Given the description of an element on the screen output the (x, y) to click on. 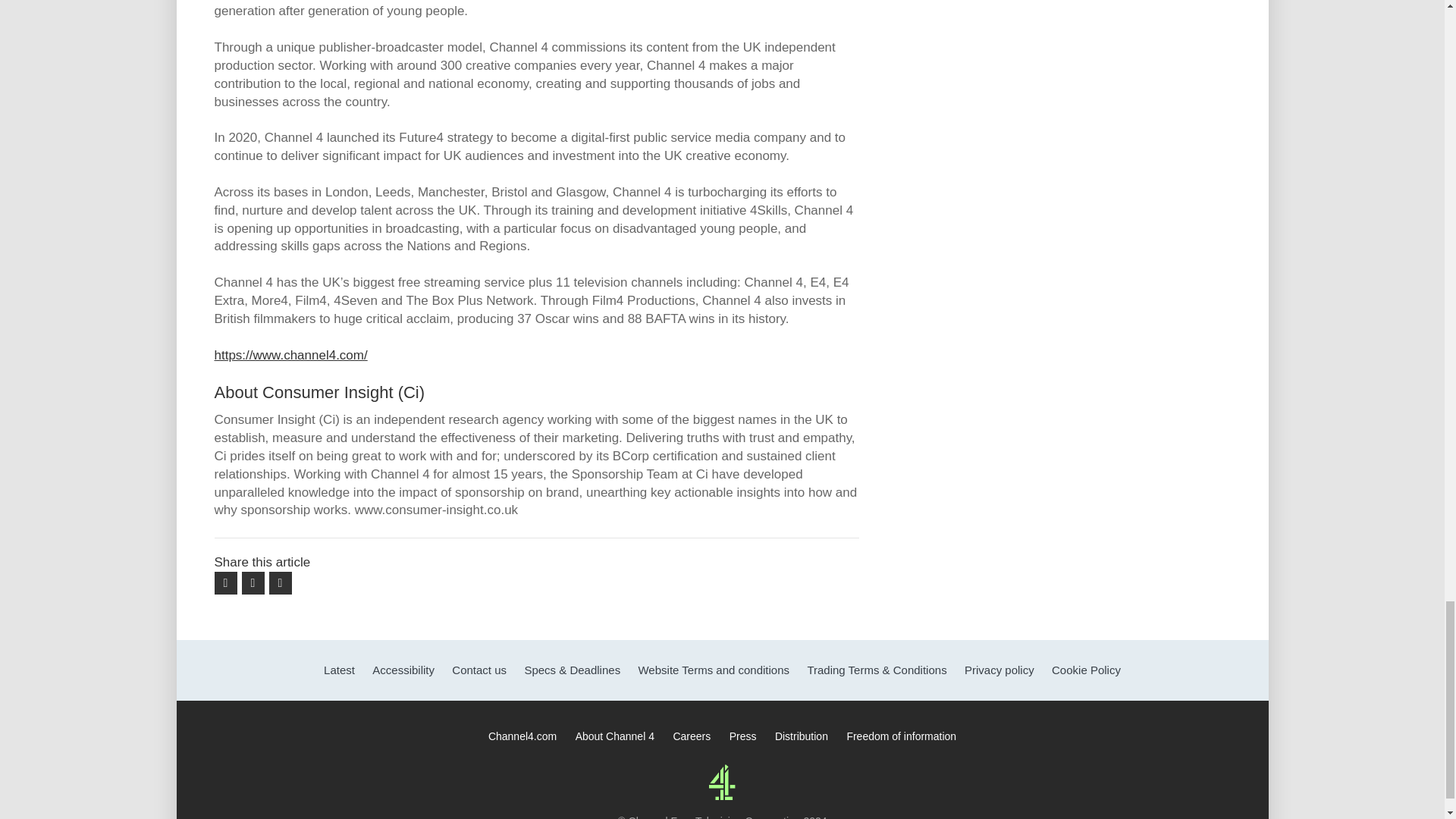
Contact us (478, 670)
Freedom of information (900, 736)
Email (279, 582)
Press (743, 736)
Cookie Policy (1085, 670)
Privacy policy (999, 670)
Website Terms and conditions (713, 670)
Twitter (224, 582)
Channel4.com (522, 736)
LinkedIn (252, 582)
Careers (691, 736)
About Channel 4 (614, 736)
Distribution (801, 736)
Accessibility (403, 670)
Latest (338, 670)
